Given the description of an element on the screen output the (x, y) to click on. 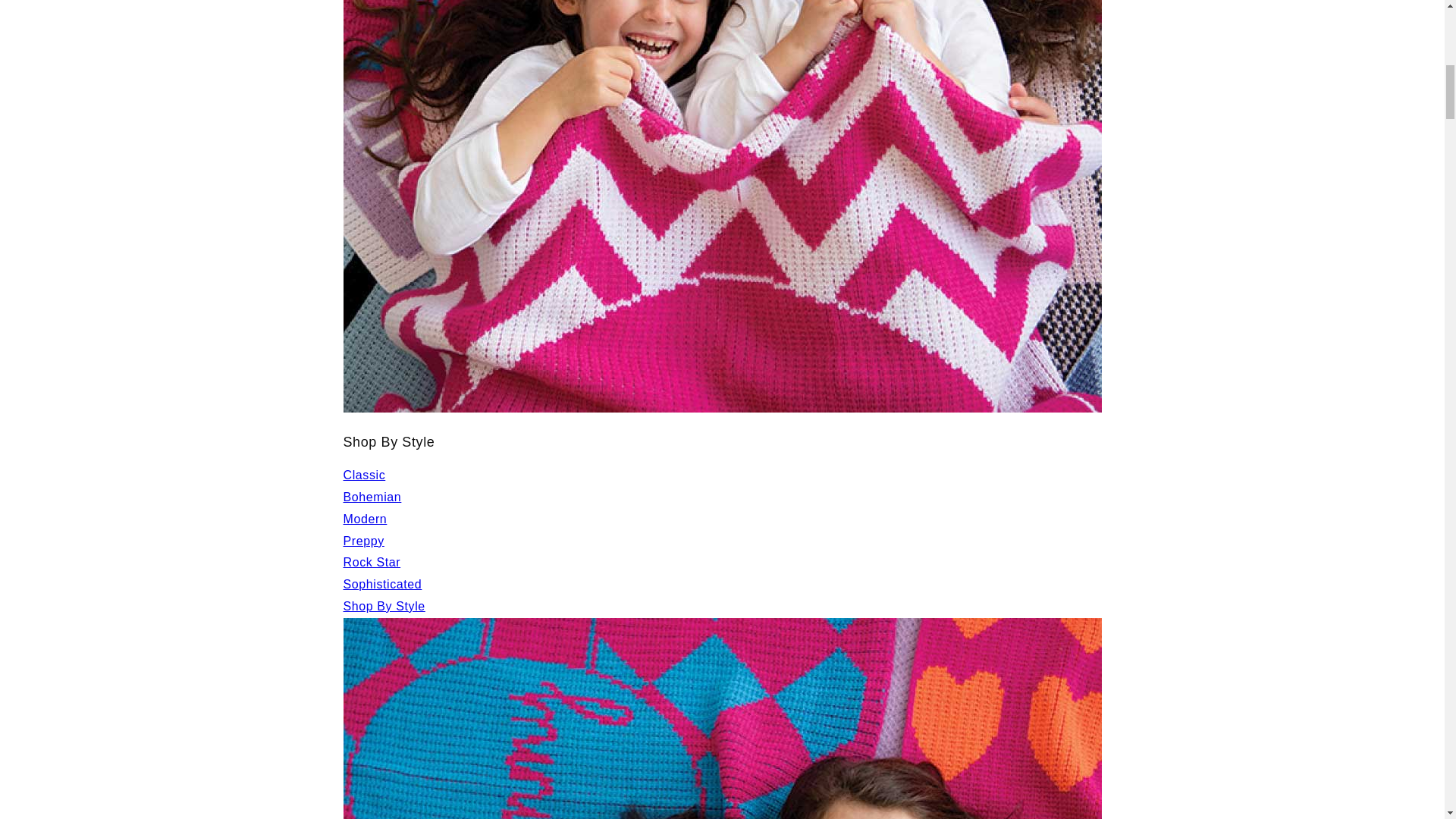
Preppy (363, 540)
Modern (364, 518)
Classic (363, 474)
Bohemian (371, 496)
